Given the description of an element on the screen output the (x, y) to click on. 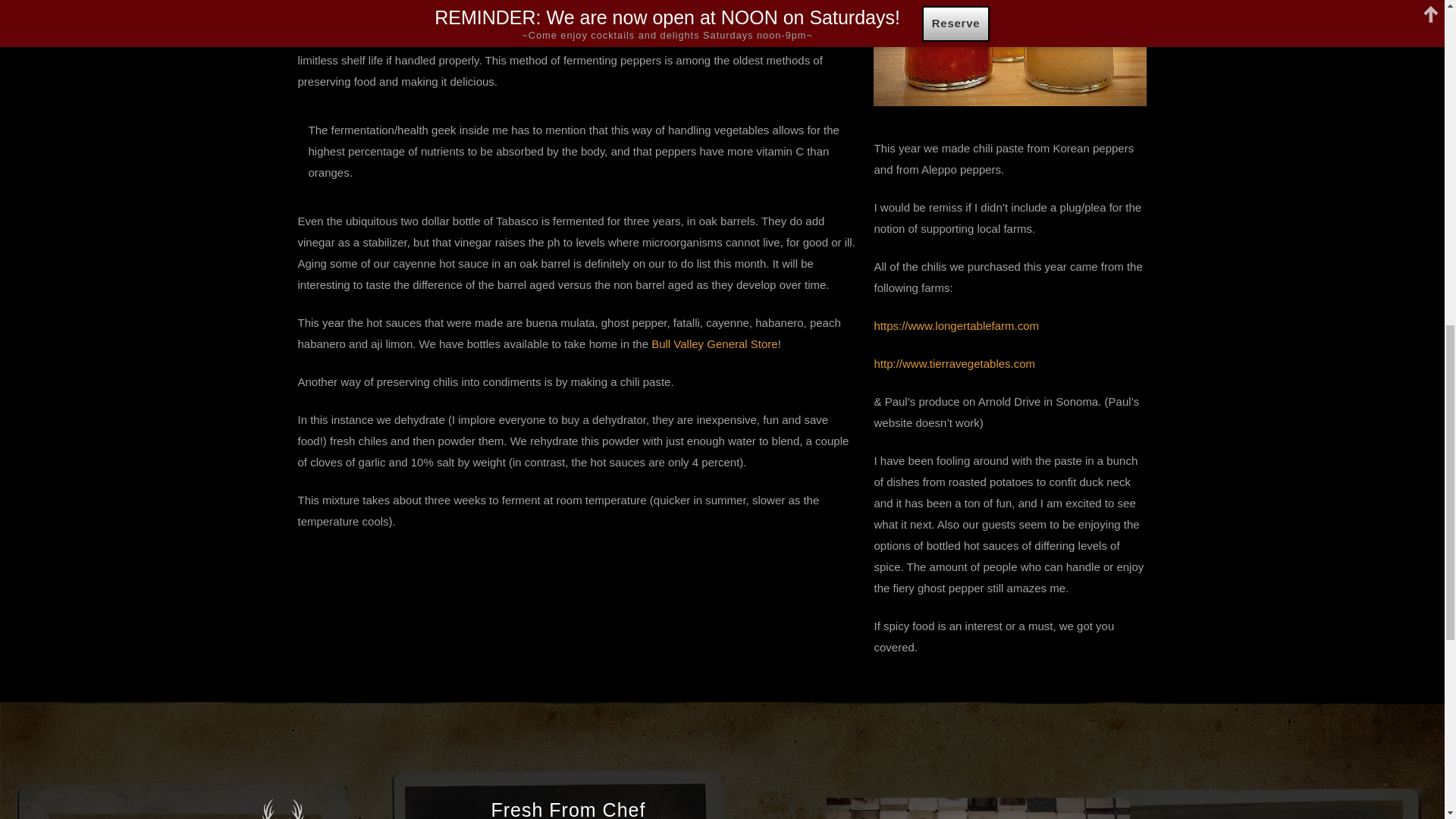
Bull Valley General Store (713, 343)
